Given the description of an element on the screen output the (x, y) to click on. 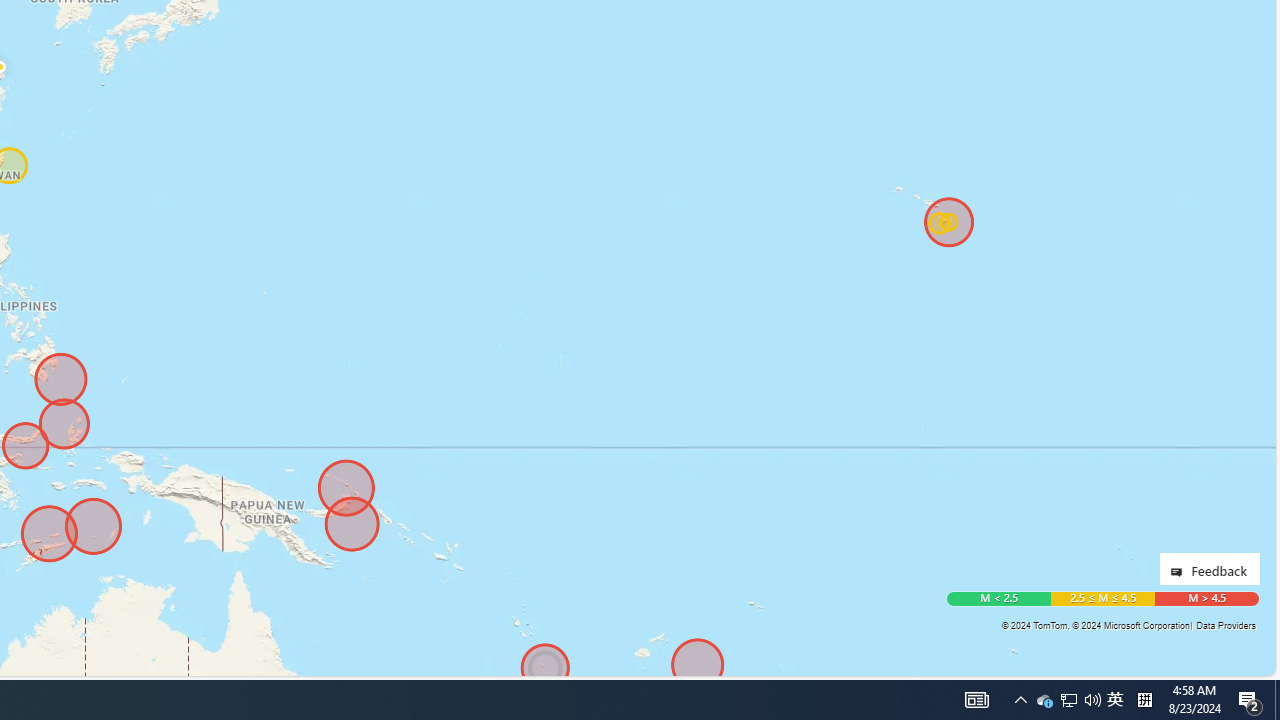
Feedback (1209, 568)
Data Providers (1225, 625)
Class: feedback_link_icon-DS-EntryPoint1-1 (1179, 571)
